Given the description of an element on the screen output the (x, y) to click on. 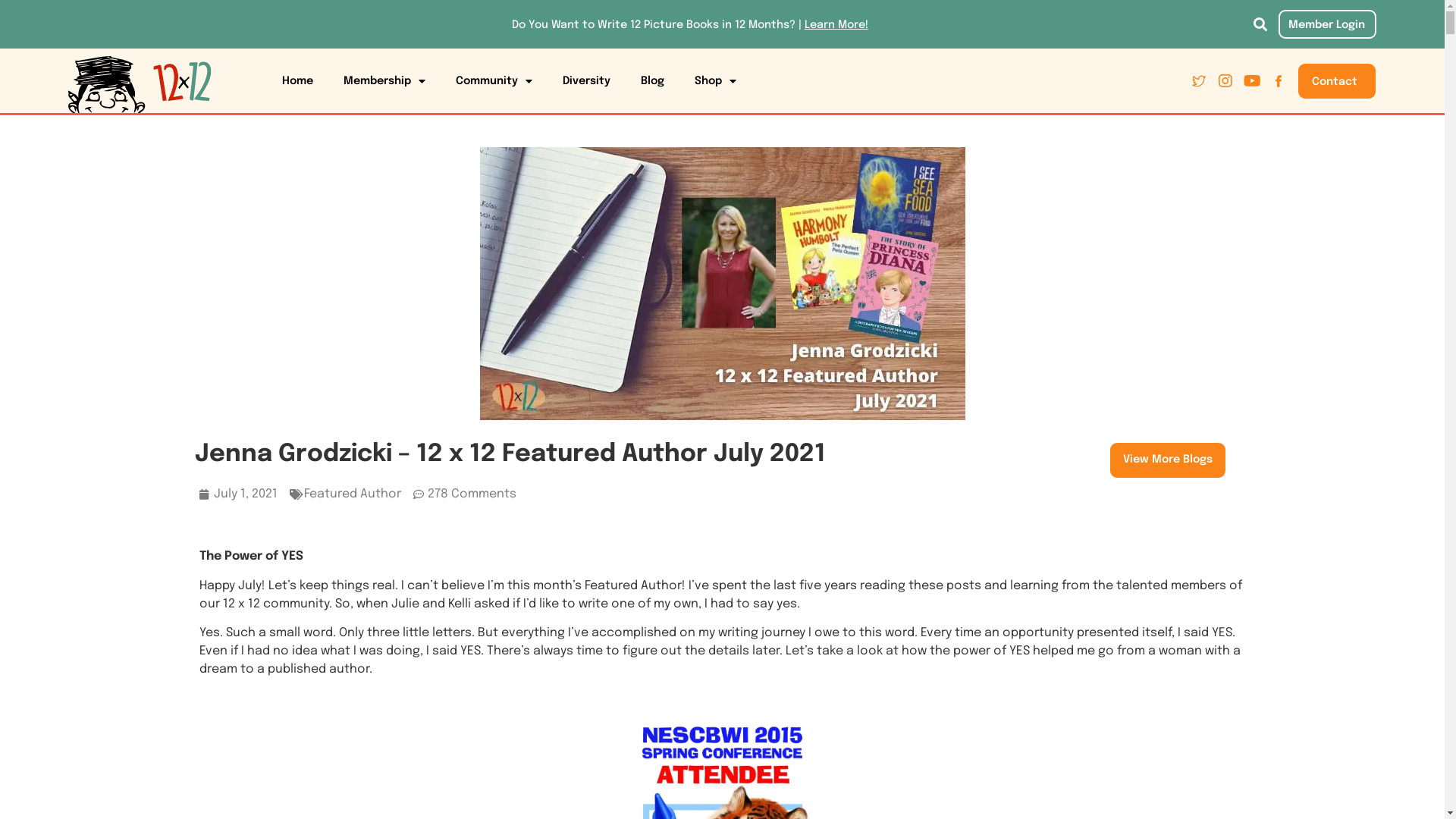
Member Login Element type: text (1327, 23)
278 Comments Element type: text (463, 494)
View More Blogs Element type: text (1167, 459)
Blog Element type: text (652, 80)
Featured Author Element type: text (351, 493)
Shop Element type: text (715, 80)
Home Element type: text (297, 80)
Learn Element type: text (819, 24)
Community Element type: text (493, 80)
July 1, 2021 Element type: text (237, 494)
More! Element type: text (851, 24)
Contact Element type: text (1336, 80)
Diversity Element type: text (586, 80)
Membership Element type: text (384, 80)
